Given the description of an element on the screen output the (x, y) to click on. 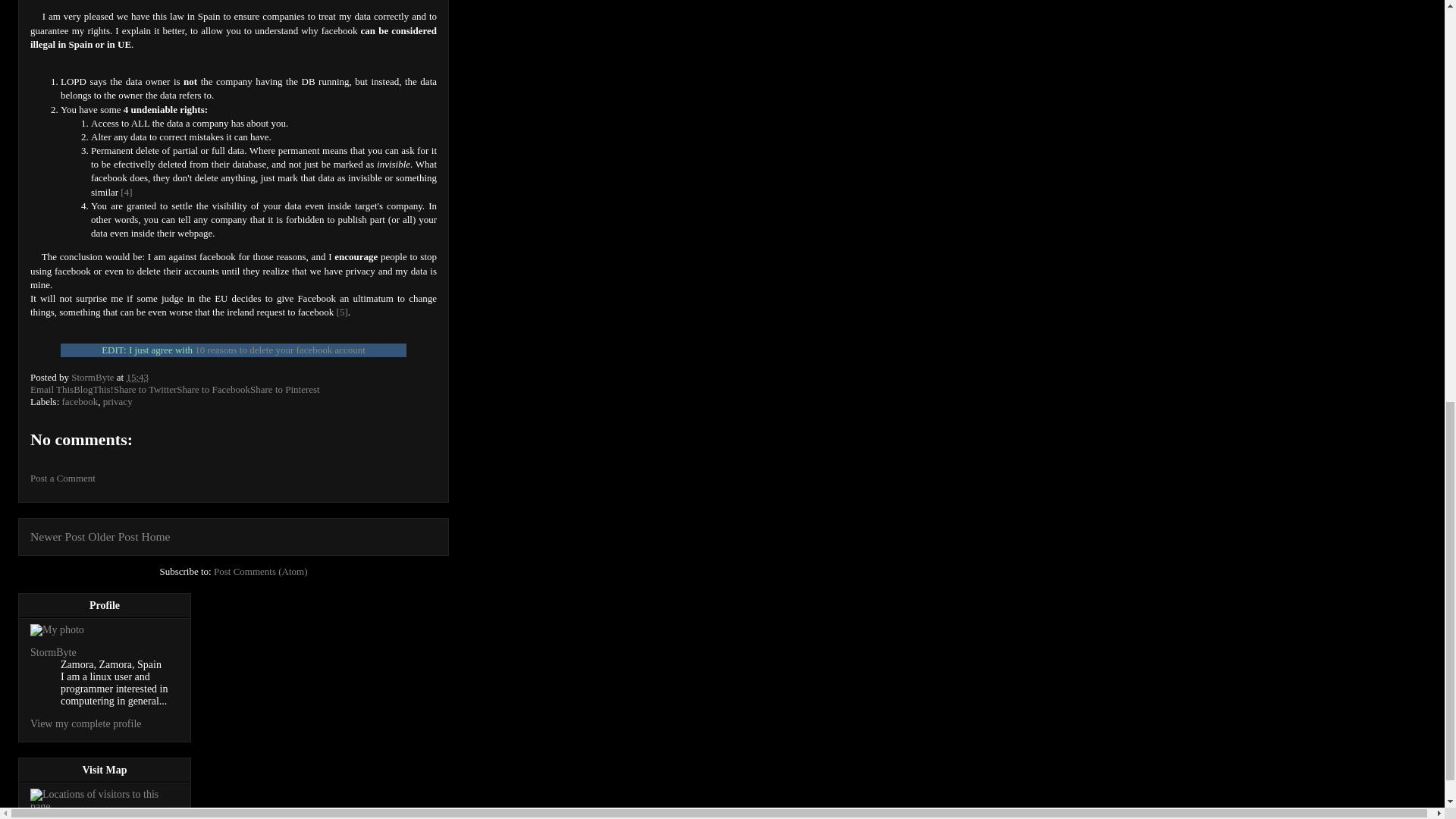
BlogThis! (93, 389)
15:43 (136, 377)
Share to Facebook (213, 389)
BlogThis! (93, 389)
privacy (117, 401)
Older Post (112, 535)
Newer Post (57, 535)
author profile (93, 377)
Newer Post (57, 535)
Share to Pinterest (285, 389)
facebook (80, 401)
Email This (52, 389)
Home (155, 535)
Older Post (112, 535)
Share to Twitter (144, 389)
